Given the description of an element on the screen output the (x, y) to click on. 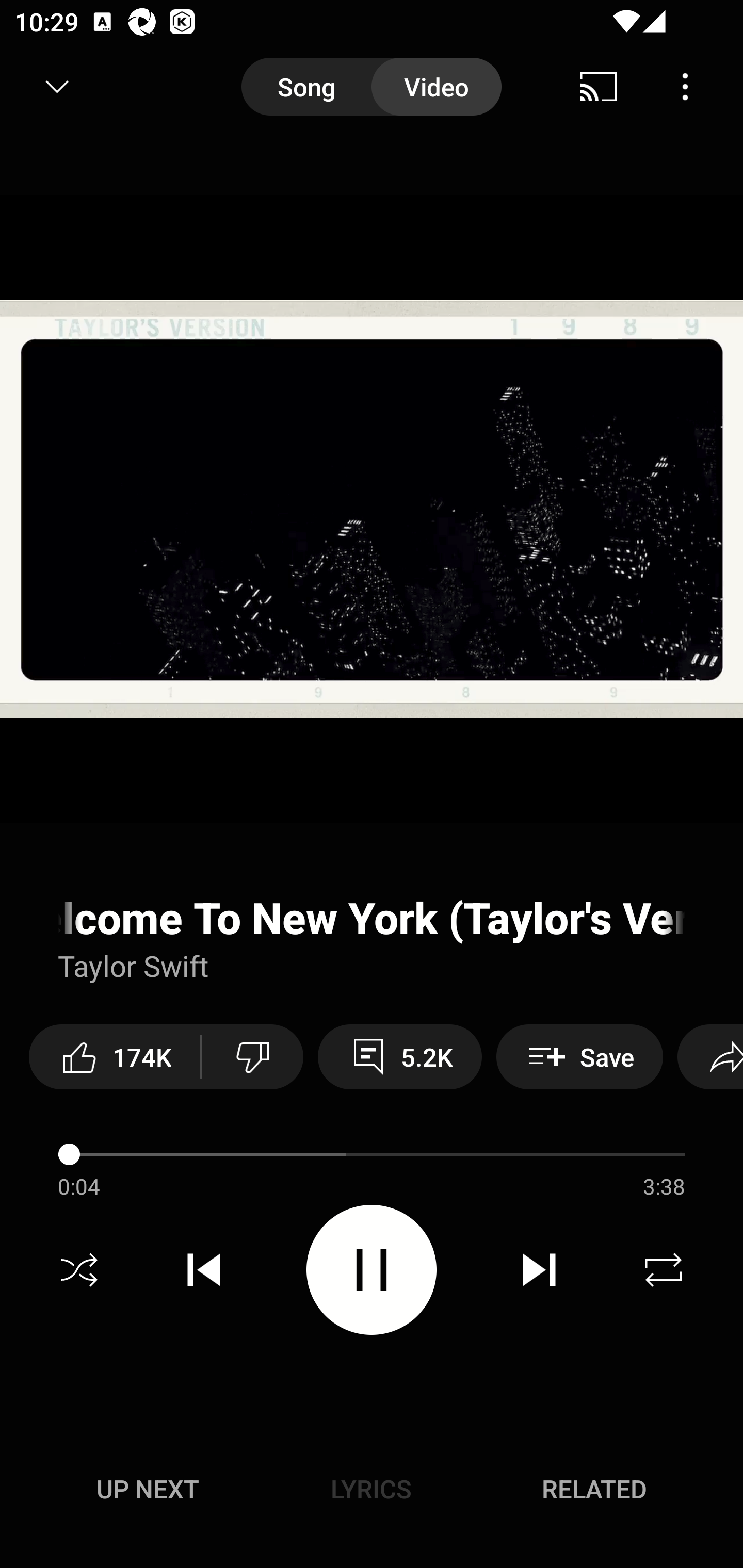
Minimize (57, 86)
Cast. Disconnected (598, 86)
Search (692, 86)
Action menu (371, 960)
Dislike (252, 1056)
5.2K View 5,281 comments (400, 1056)
Save Save to playlist (579, 1056)
Share (710, 1056)
Action menu (371, 1191)
Action menu (673, 1191)
Pause video (371, 1269)
Shuffle off (79, 1269)
Previous track (203, 1269)
Next track (538, 1269)
Repeat off (663, 1269)
Lyrics LYRICS (370, 1488)
Related RELATED (594, 1488)
